Given the description of an element on the screen output the (x, y) to click on. 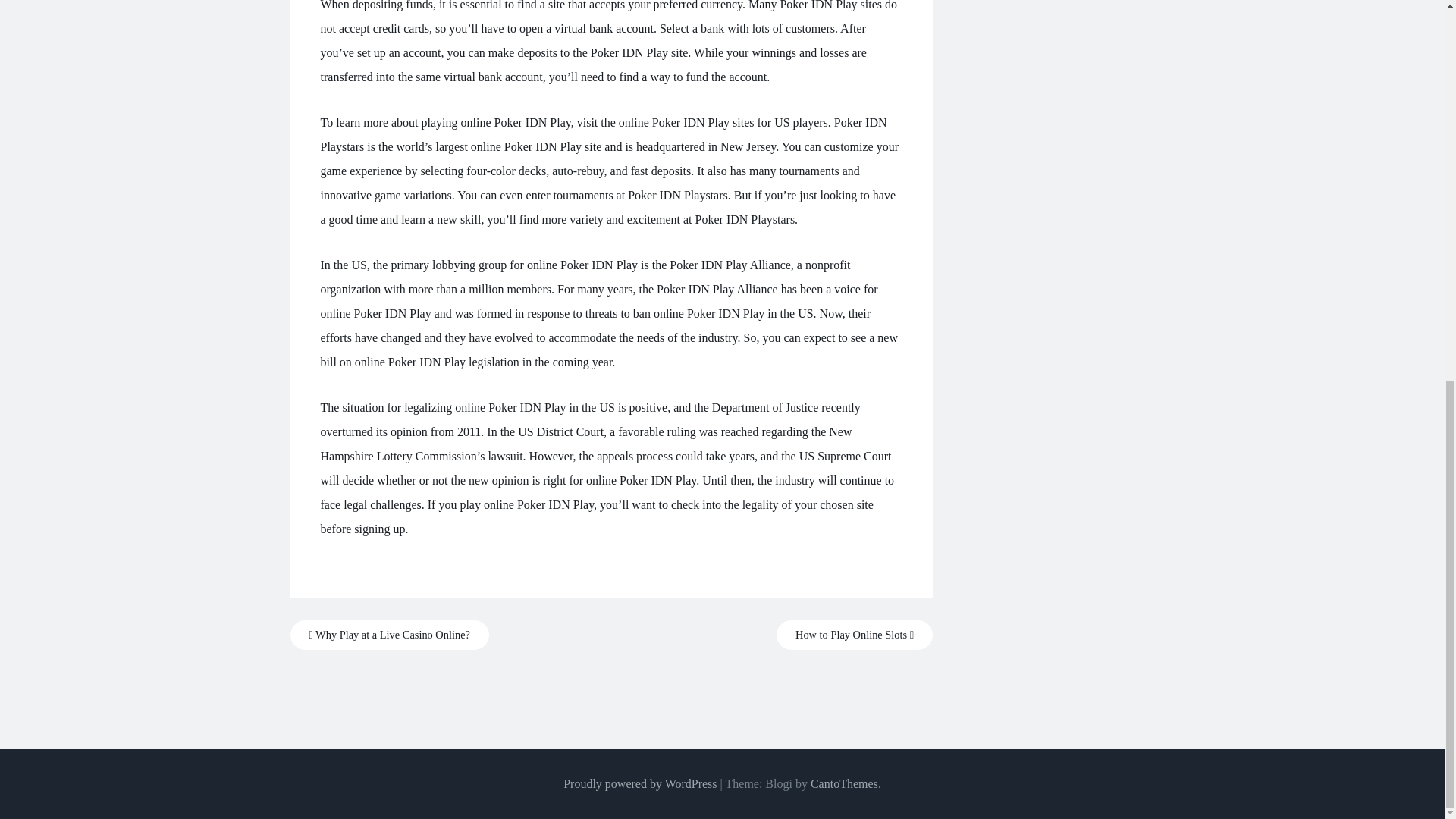
Why Play at a Live Casino Online? (388, 634)
CantoThemes (843, 783)
How to Play Online Slots (854, 634)
Proudly powered by WordPress (639, 783)
